Given the description of an element on the screen output the (x, y) to click on. 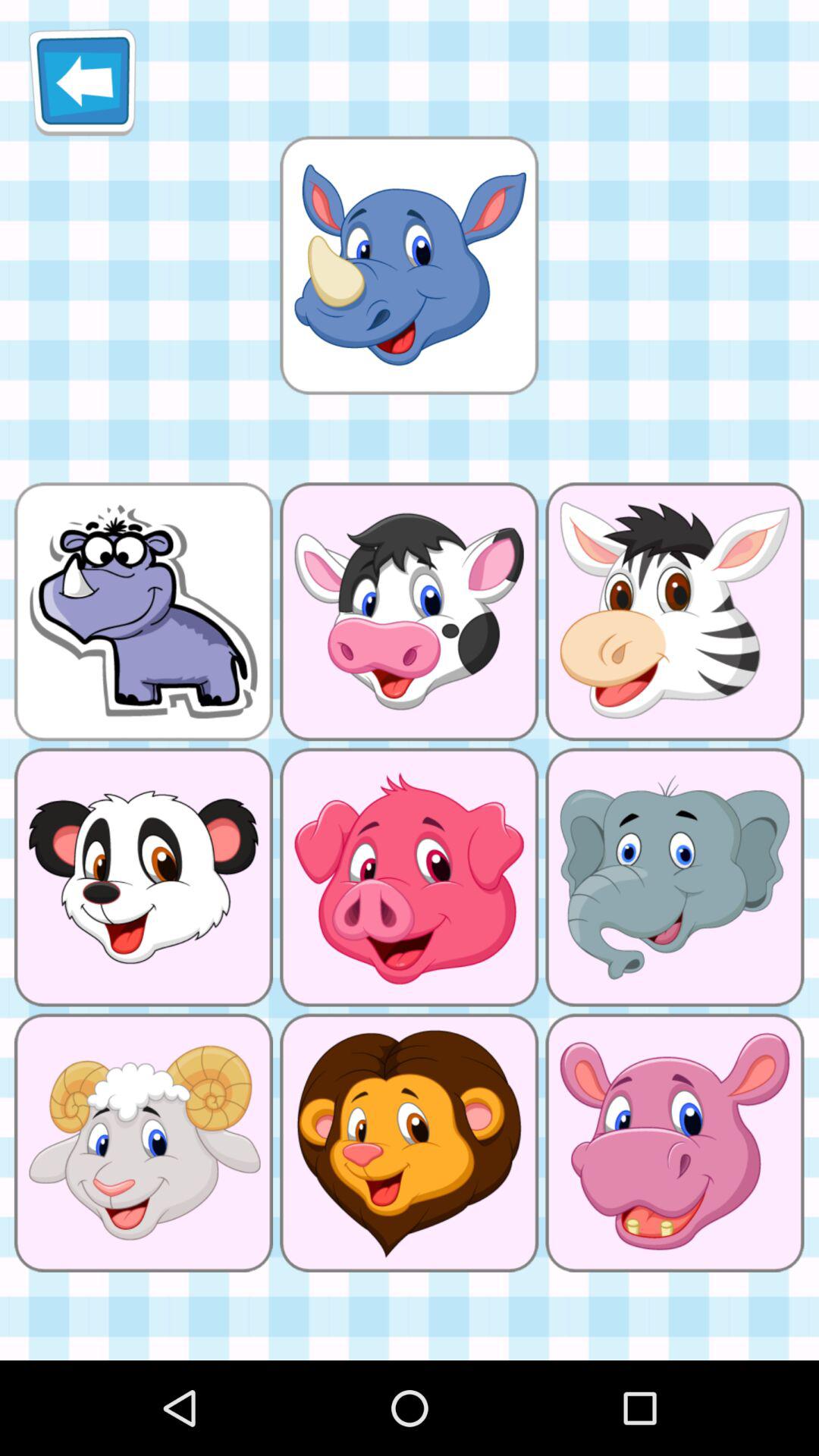
select animal (409, 264)
